Given the description of an element on the screen output the (x, y) to click on. 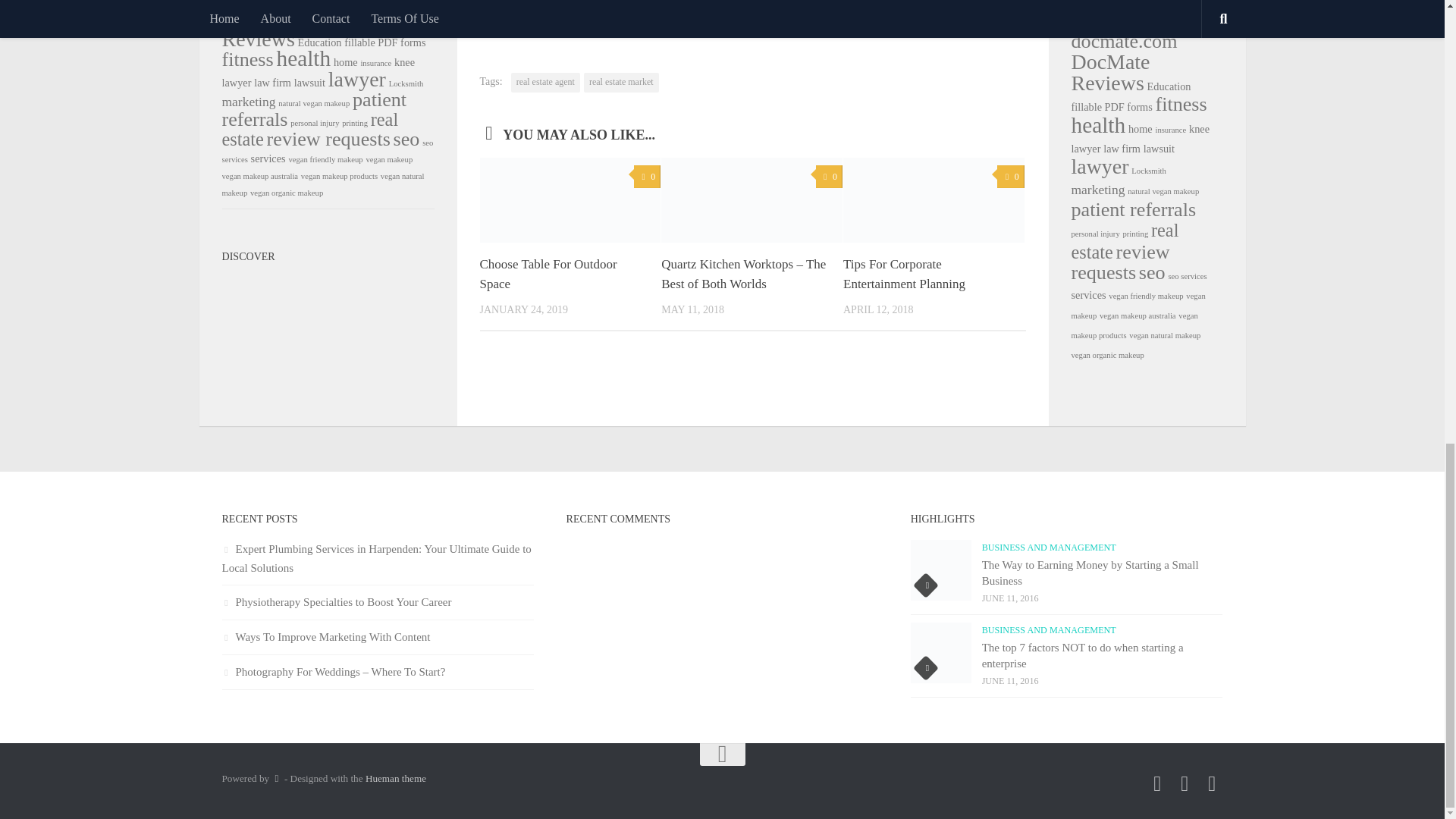
Click to share on LinkedIn (521, 2)
0 (647, 177)
Choose Table For Outdoor Space (547, 274)
Click to share on Facebook (552, 2)
Click to share on Tumblr (582, 2)
Click to share on Pinterest (611, 2)
Click to share on Twitter (491, 2)
real estate market (621, 82)
0 (829, 177)
real estate agent (545, 82)
